Given the description of an element on the screen output the (x, y) to click on. 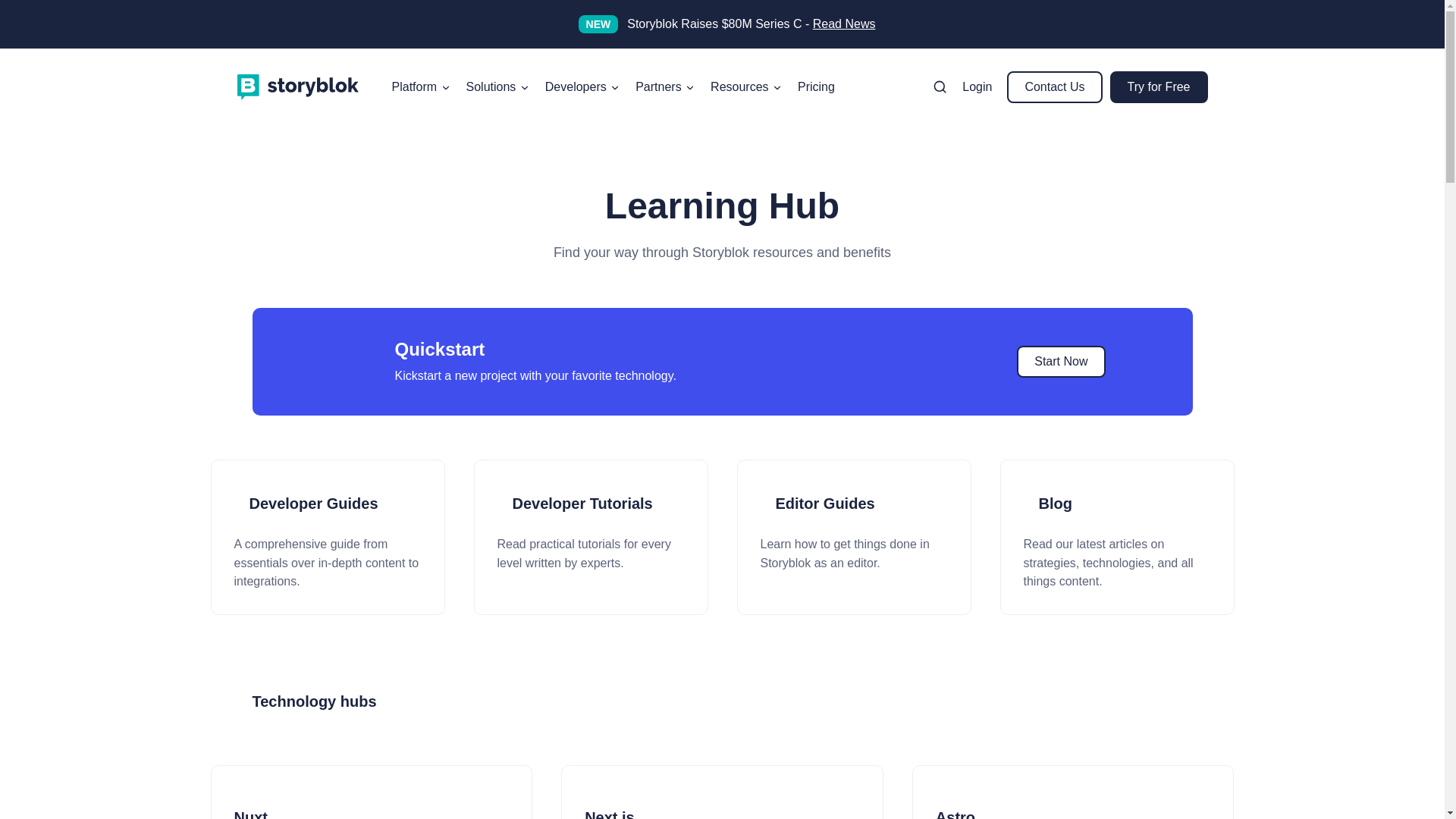
Platform (421, 86)
Read News (844, 23)
Resources (746, 86)
Pricing (816, 86)
Skip to main content (7, 74)
Navigate to Solutions (497, 86)
Navigate to Platform (421, 86)
Solutions (497, 86)
Developers (582, 86)
Storyblok Homepage (296, 86)
Navigate to Developers (582, 86)
Partners (665, 86)
Login (976, 86)
